Given the description of an element on the screen output the (x, y) to click on. 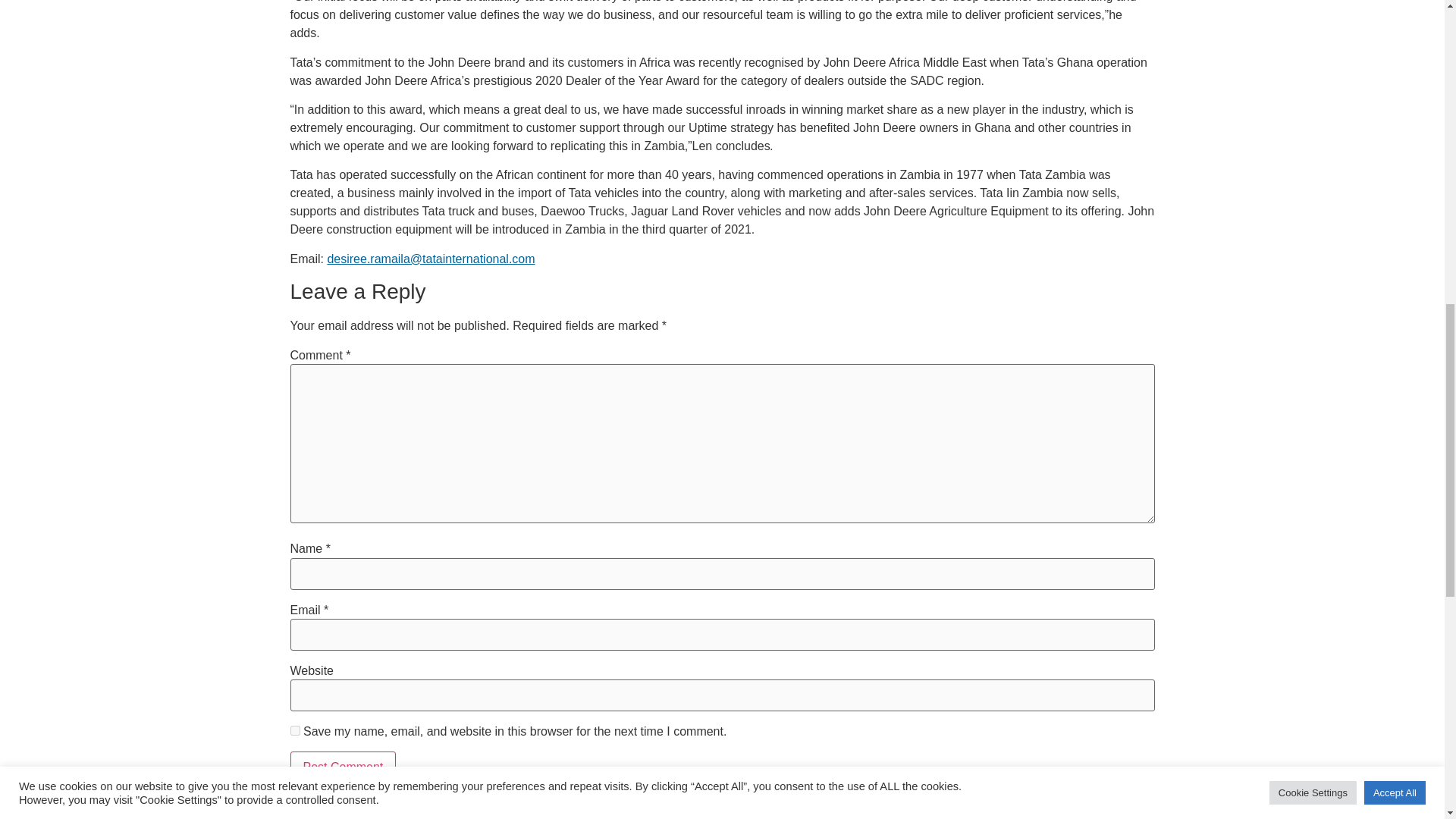
Post Comment (342, 766)
yes (294, 730)
